Given the description of an element on the screen output the (x, y) to click on. 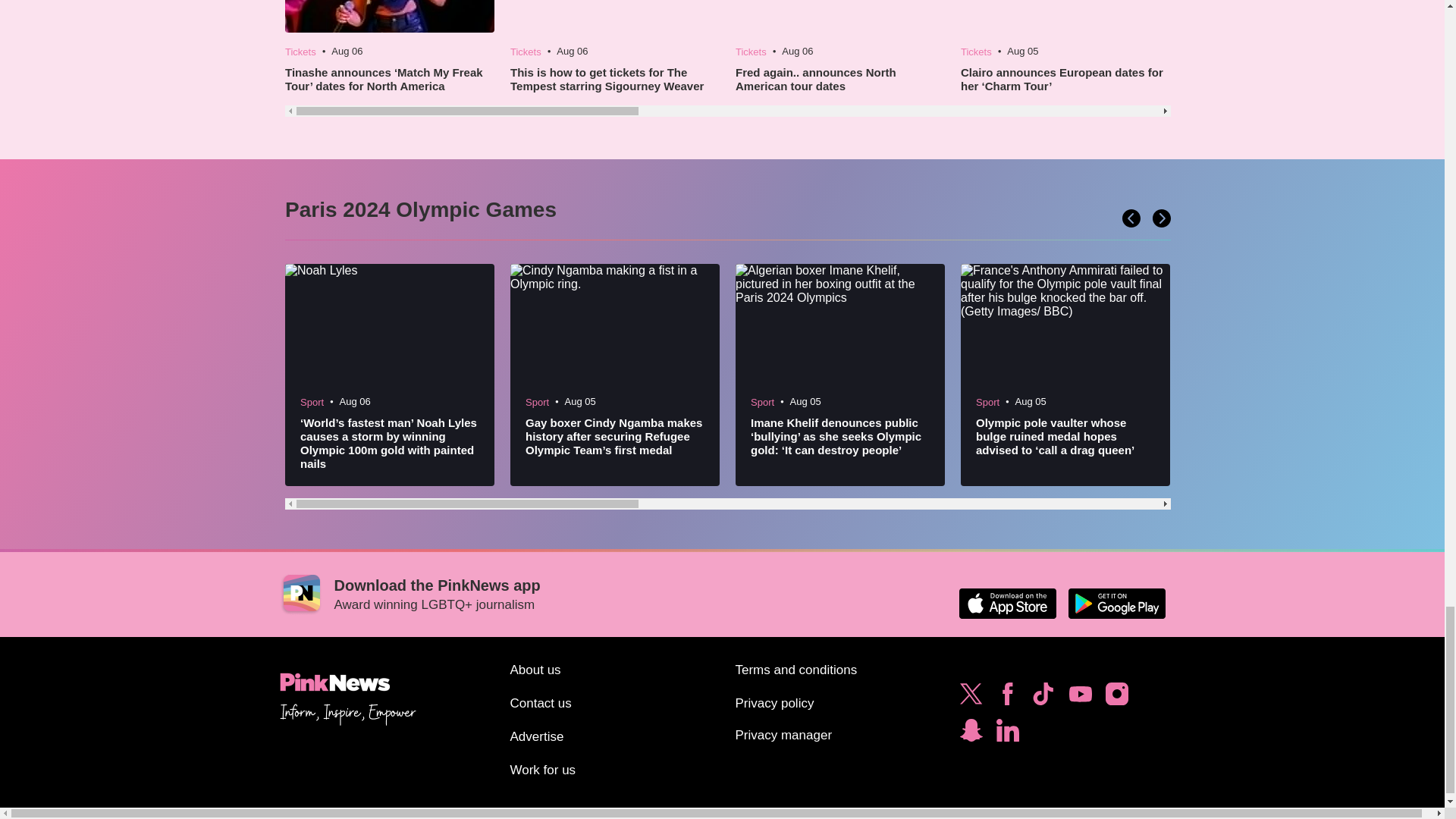
Follow PinkNews on LinkedIn (1007, 733)
Subscribe to PinkNews on Snapchat (970, 733)
Download the PinkNews app on the Apple App Store (1006, 603)
Download the PinkNews app on Google Play (1115, 603)
Follow PinkNews on TikTok (1042, 697)
Follow PinkNews on Instagram (1116, 697)
Subscribe to PinkNews on YouTube (1079, 697)
Follow PinkNews on Twitter (970, 697)
